Given the description of an element on the screen output the (x, y) to click on. 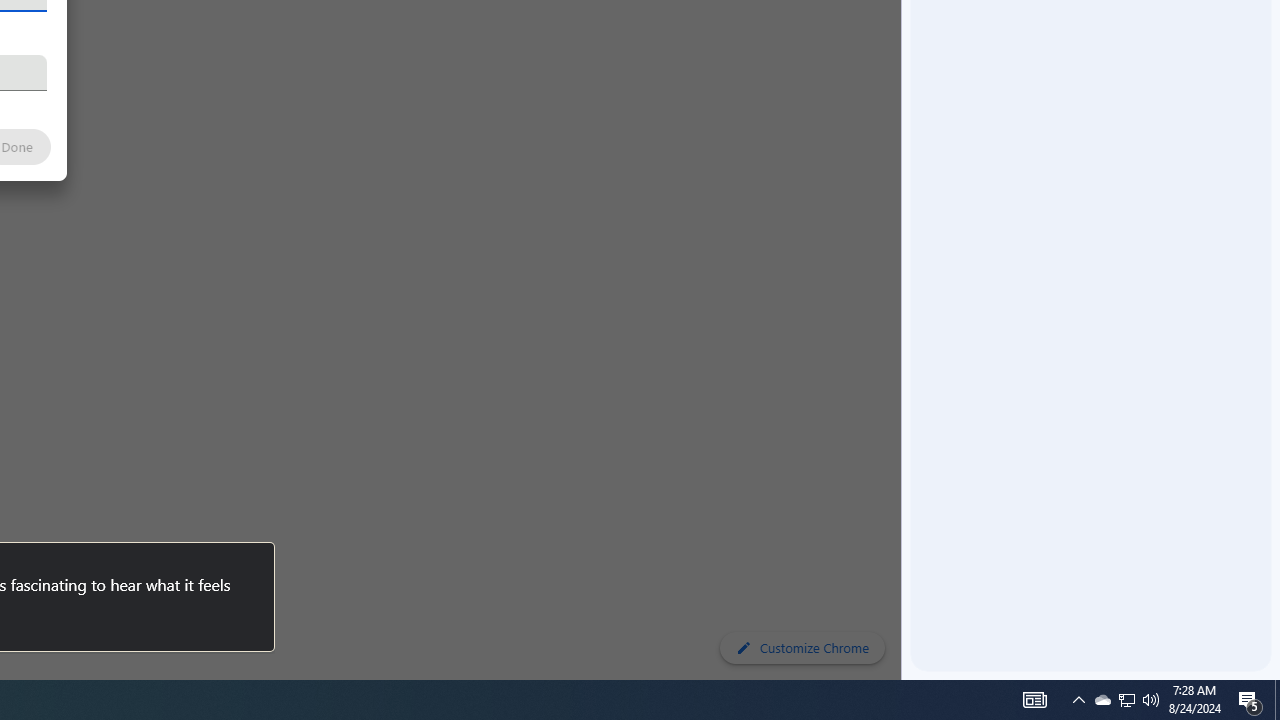
Side Panel Resize Handle (905, 39)
